Given the description of an element on the screen output the (x, y) to click on. 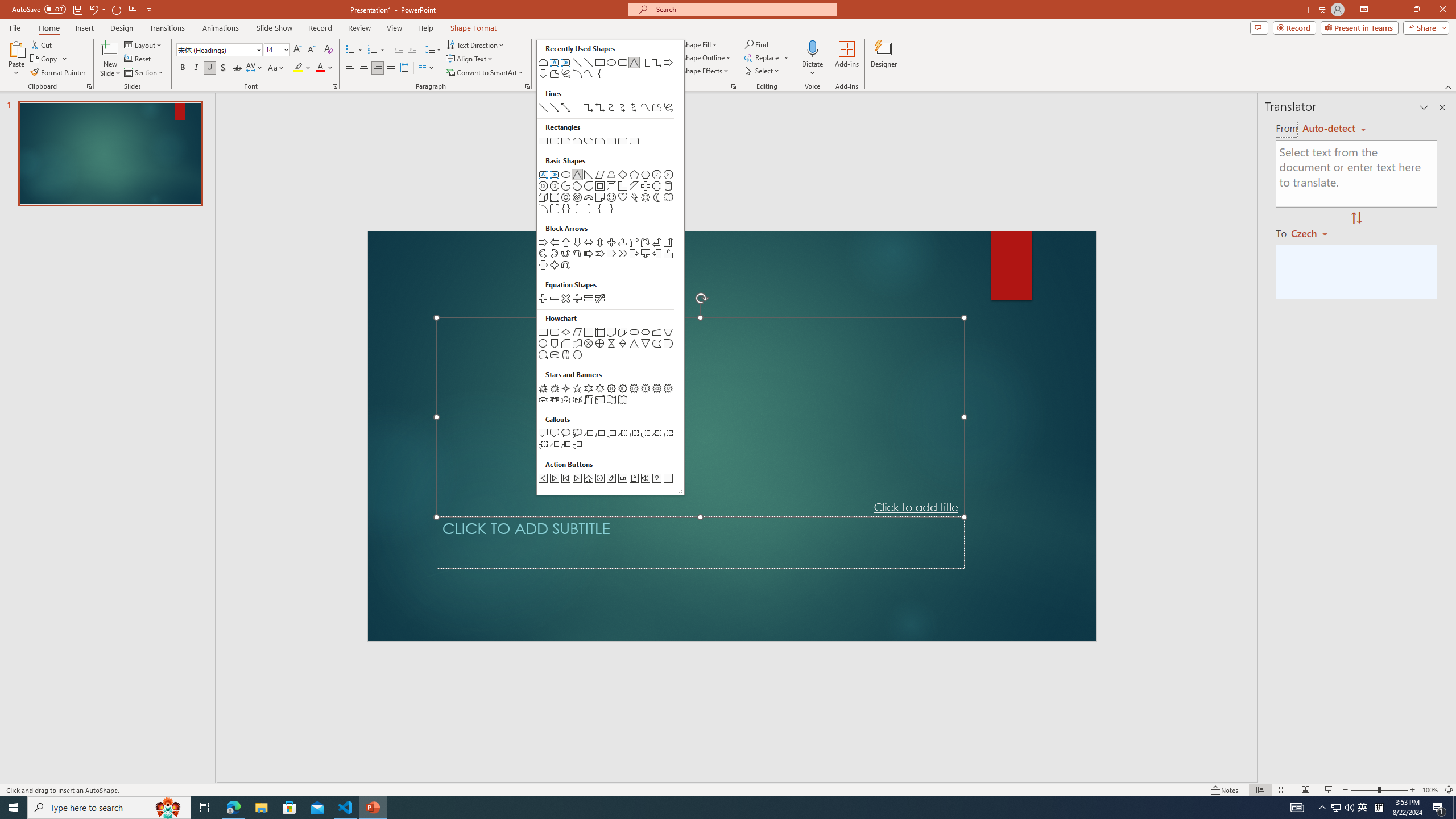
Increase Font Size (297, 49)
Align Left (349, 67)
Italic (195, 67)
Running applications (707, 807)
Text Highlight Color Yellow (297, 67)
Font... (334, 85)
